Given the description of an element on the screen output the (x, y) to click on. 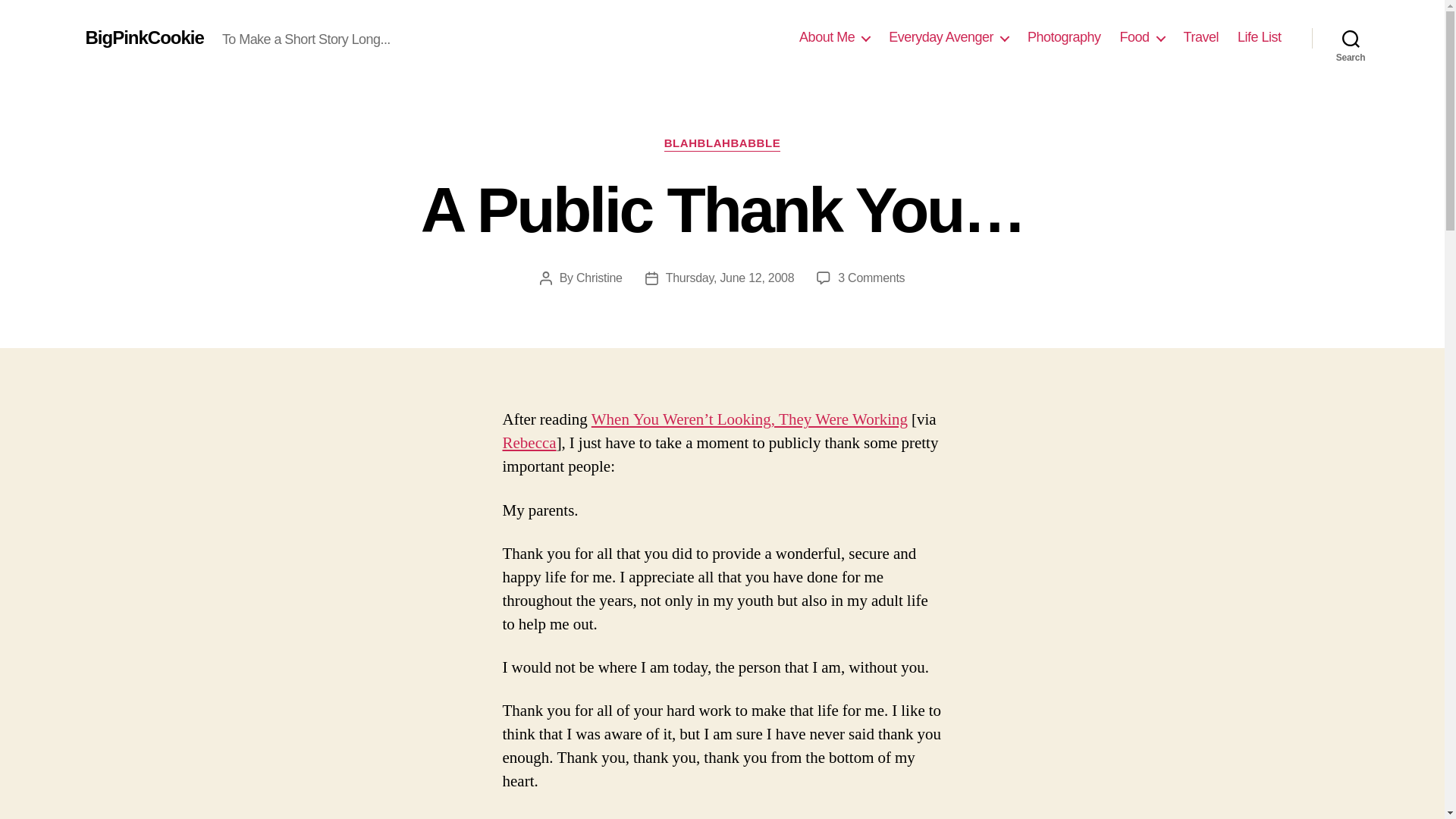
Travel (1200, 37)
Thursday, June 12, 2008 (729, 277)
Everyday Avenger (948, 37)
BigPinkCookie (143, 37)
Photography (1063, 37)
Life List (1259, 37)
Christine (599, 277)
About Me (834, 37)
Food (1141, 37)
Search (1350, 37)
